Given the description of an element on the screen output the (x, y) to click on. 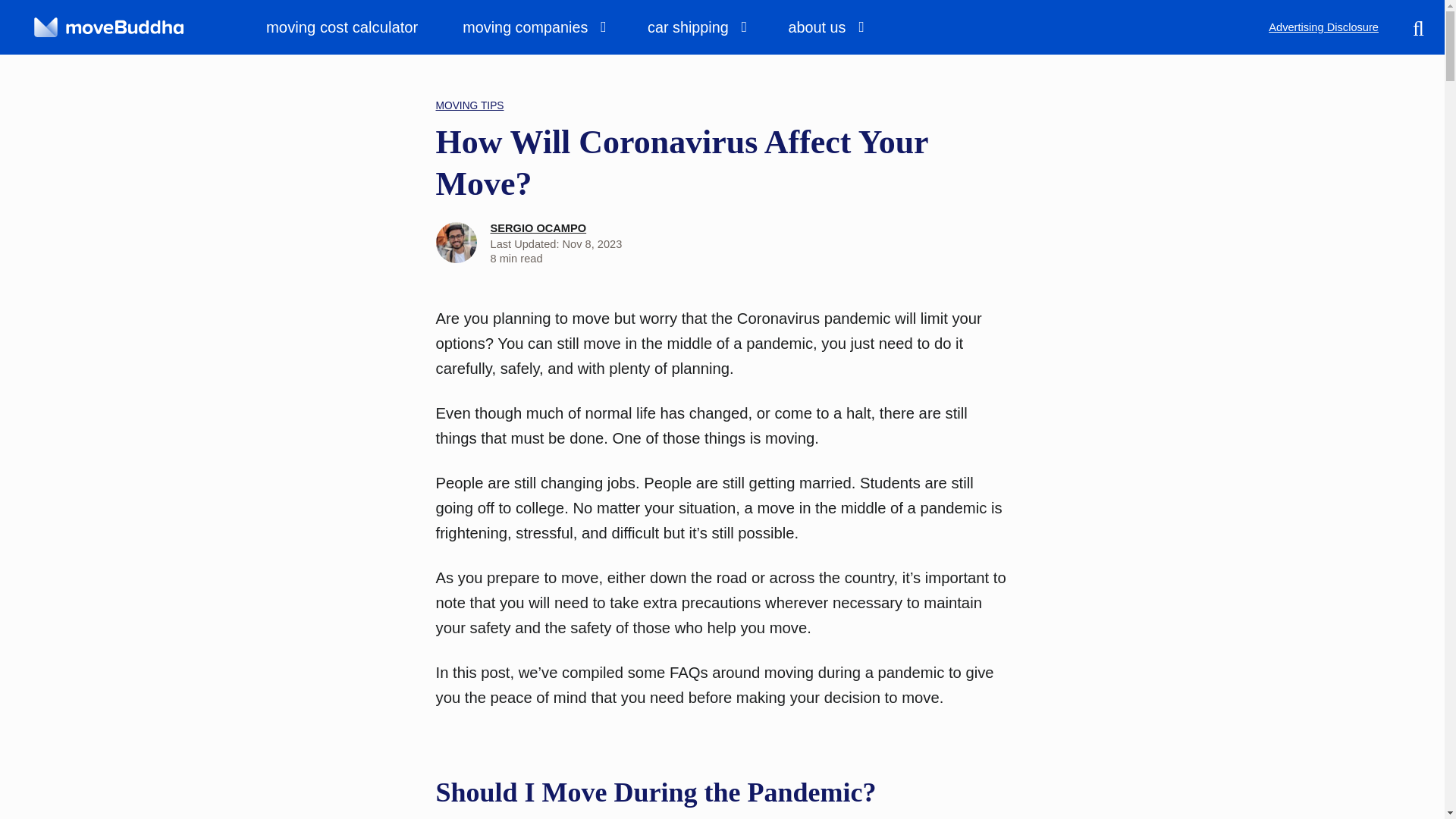
car shipping (694, 27)
moving companies (532, 27)
Advertising Disclosure (1323, 27)
moving cost calculator (352, 26)
about us (825, 27)
